Given the description of an element on the screen output the (x, y) to click on. 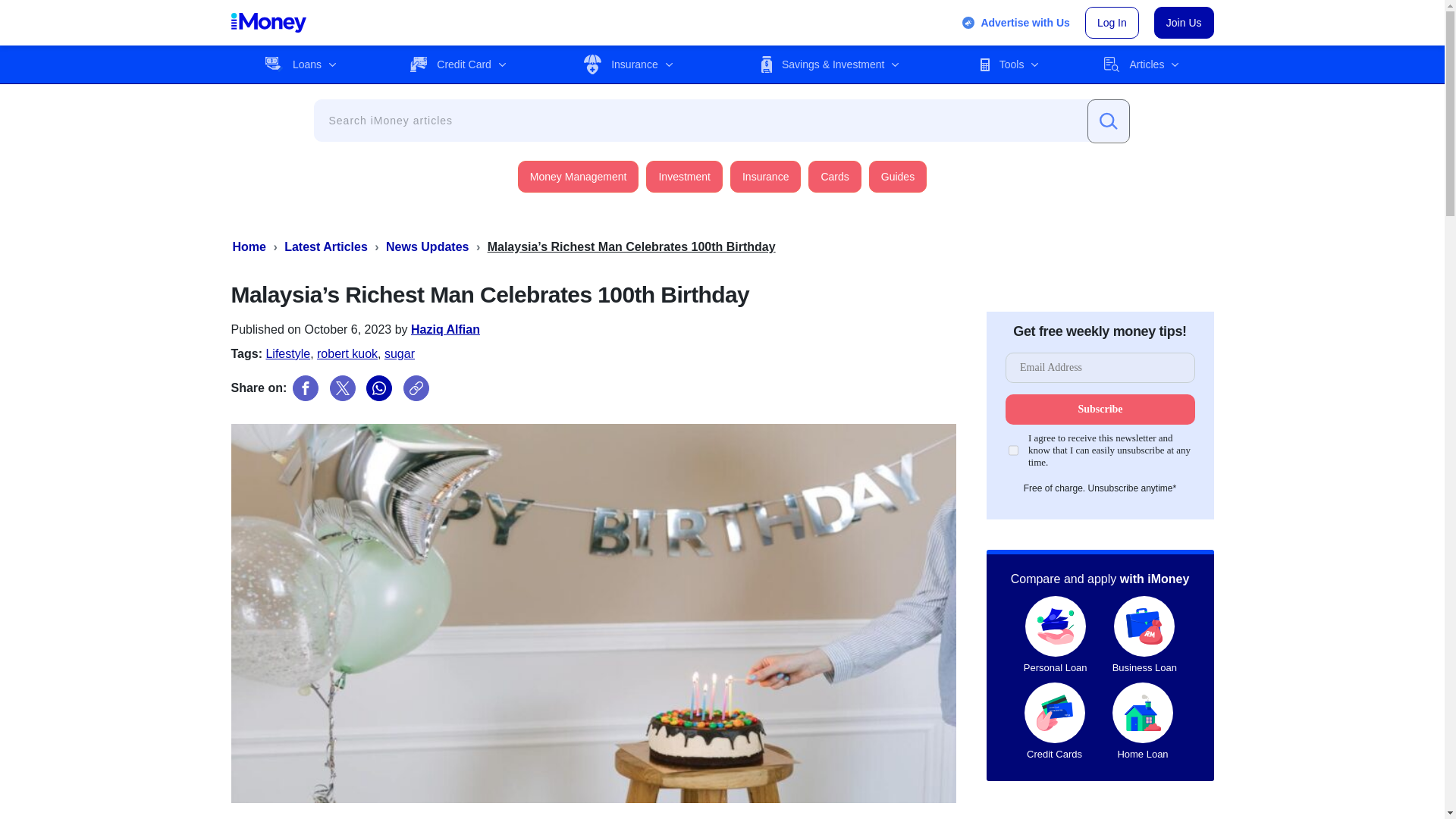
Copy Link (416, 388)
Loans (299, 64)
Log In (1111, 22)
Facebook (305, 388)
iMoney (267, 22)
Join Us (1184, 22)
Advertise with Us (1015, 23)
Search (1108, 121)
Whatsapp (378, 388)
Twitter (342, 388)
Posts by Haziq Alfian (445, 328)
Credit Card (457, 64)
